Given the description of an element on the screen output the (x, y) to click on. 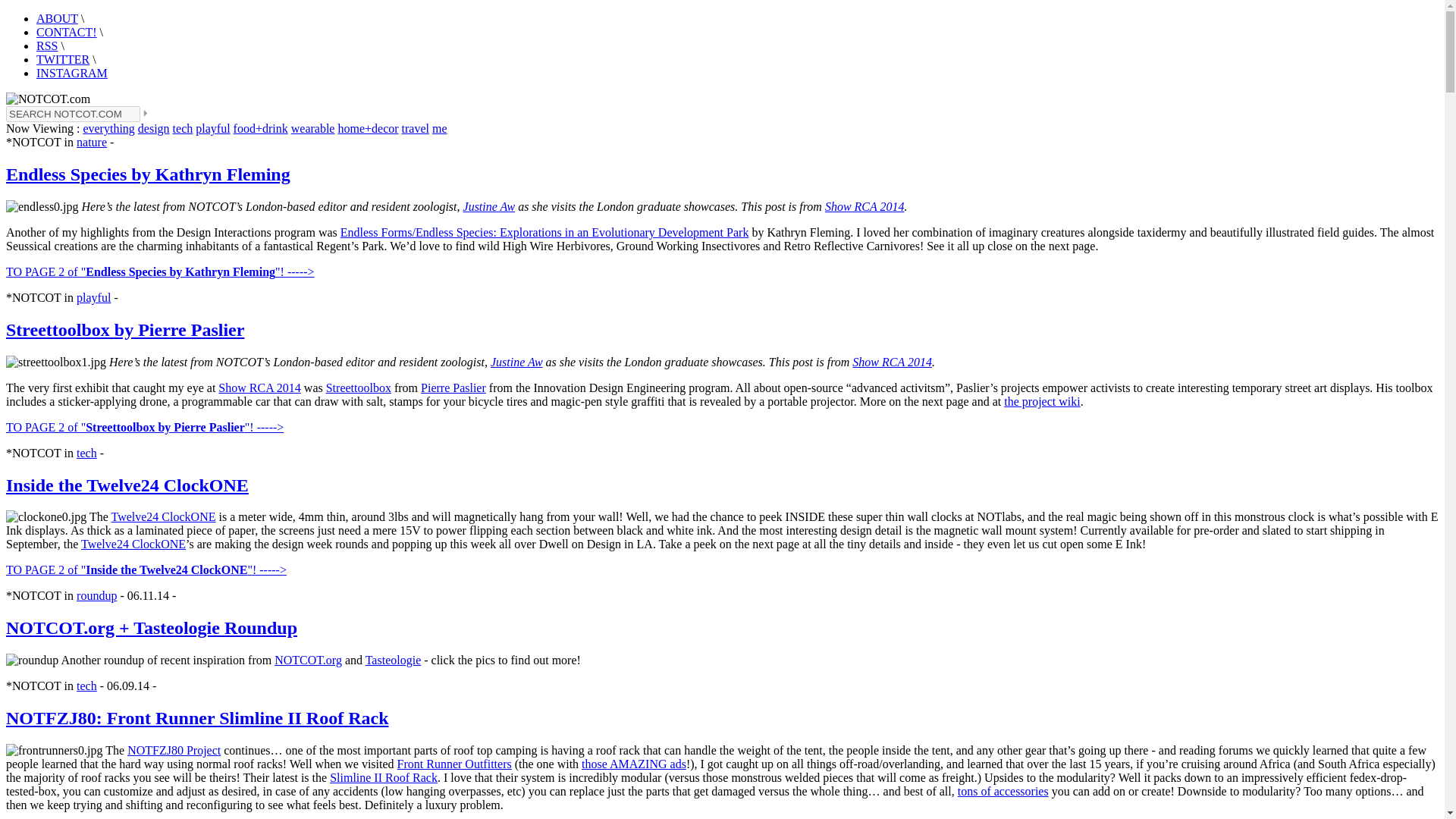
NOTCOT.org (308, 659)
design (154, 128)
Twelve24 ClockONE (133, 543)
Pierre Paslier (453, 387)
Show RCA 2014 (891, 361)
tech (183, 128)
wearable (312, 128)
tech (87, 452)
Endless Species by Kathryn Fleming (147, 174)
ABOUT (57, 18)
roundup (96, 594)
nature (91, 141)
Twelve24 ClockONE (162, 516)
me (439, 128)
INSTAGRAM (71, 72)
